Given the description of an element on the screen output the (x, y) to click on. 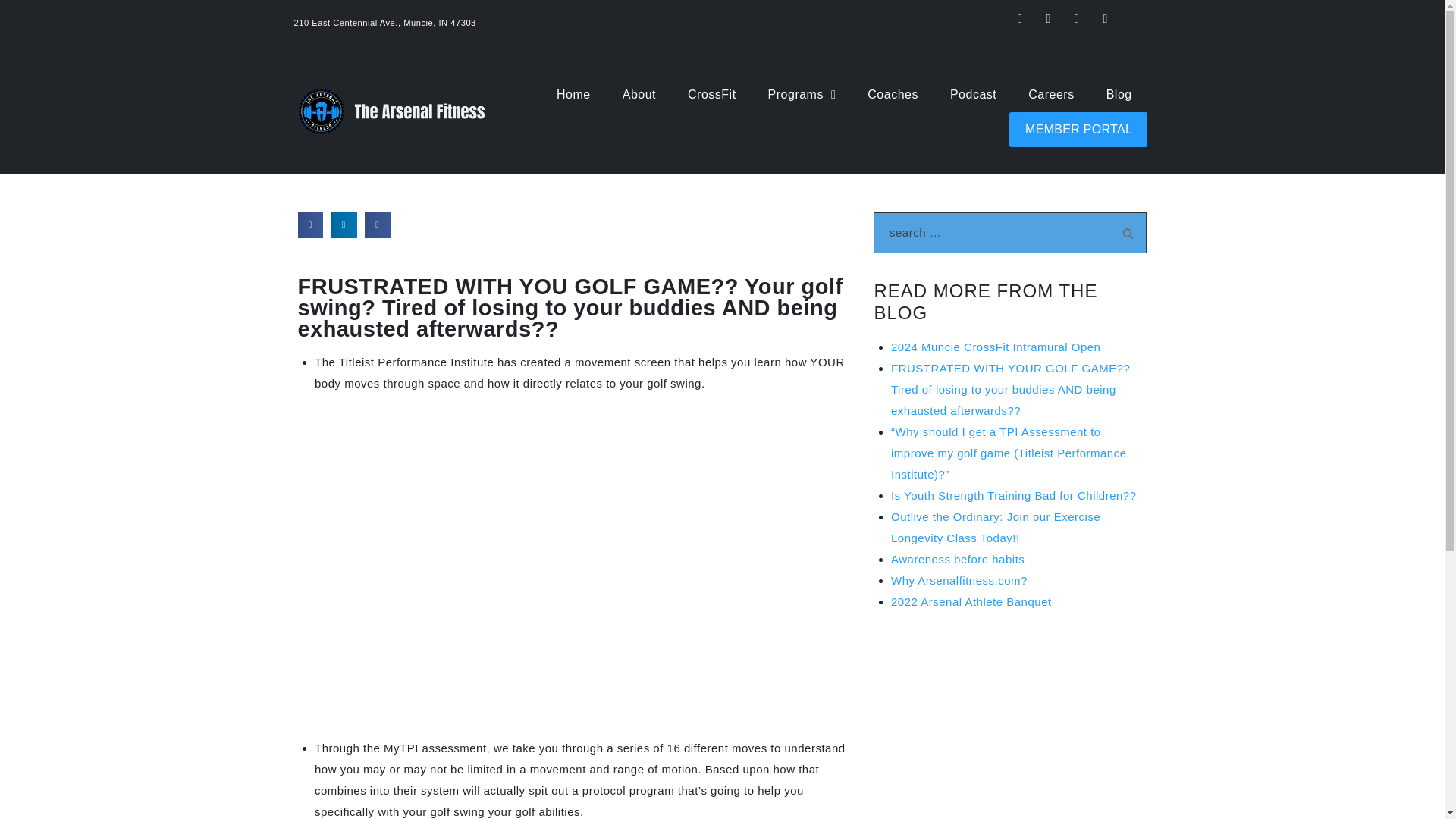
Coaches (892, 94)
Programs (801, 94)
Search (1127, 232)
Podcast (972, 94)
Search (1127, 232)
Blog (1118, 94)
Careers (1051, 94)
CrossFit (711, 94)
MEMBER PORTAL (1078, 129)
About (639, 94)
Home (573, 94)
